Given the description of an element on the screen output the (x, y) to click on. 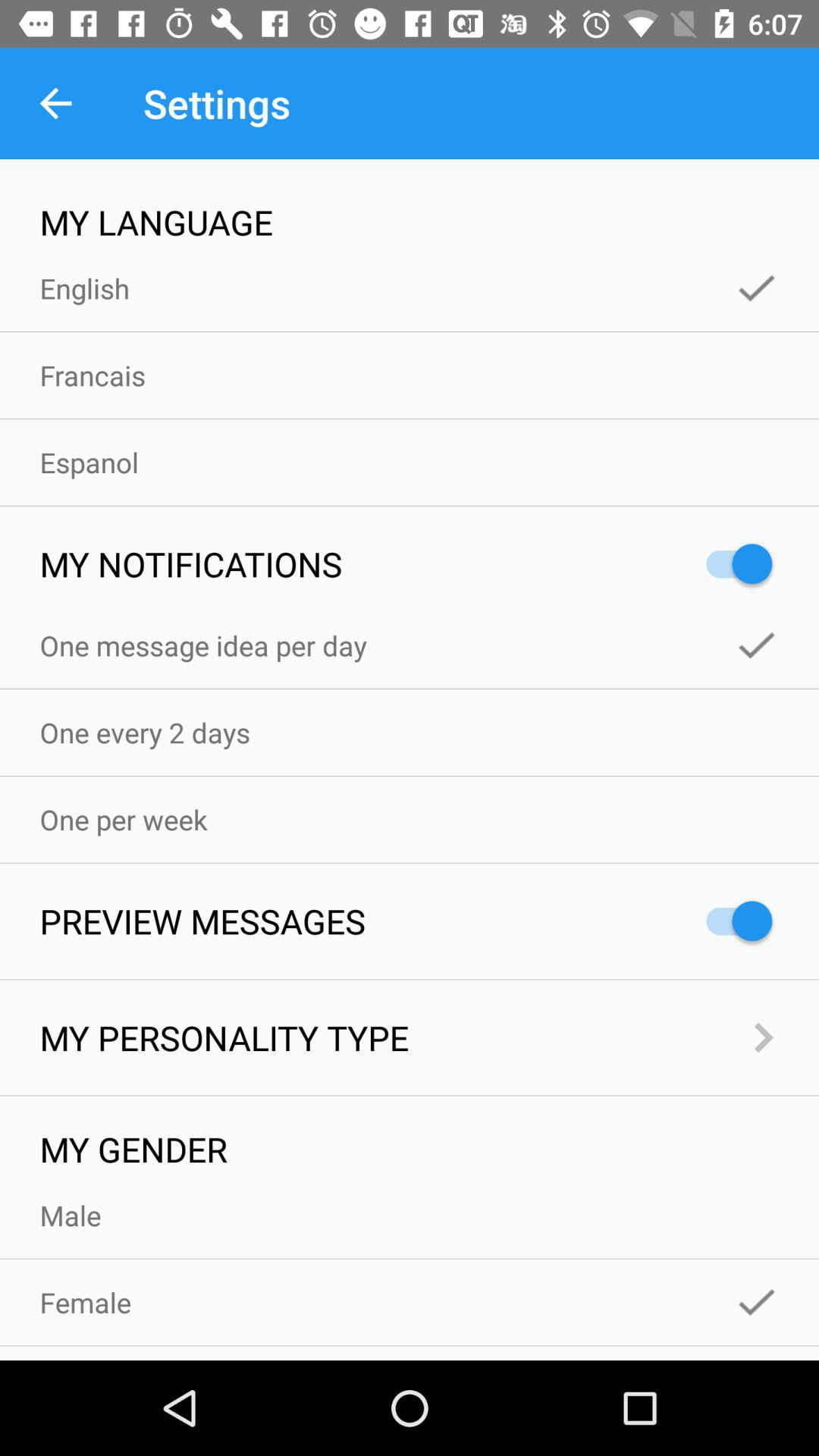
press the icon to the right of the my notifications (731, 563)
